Given the description of an element on the screen output the (x, y) to click on. 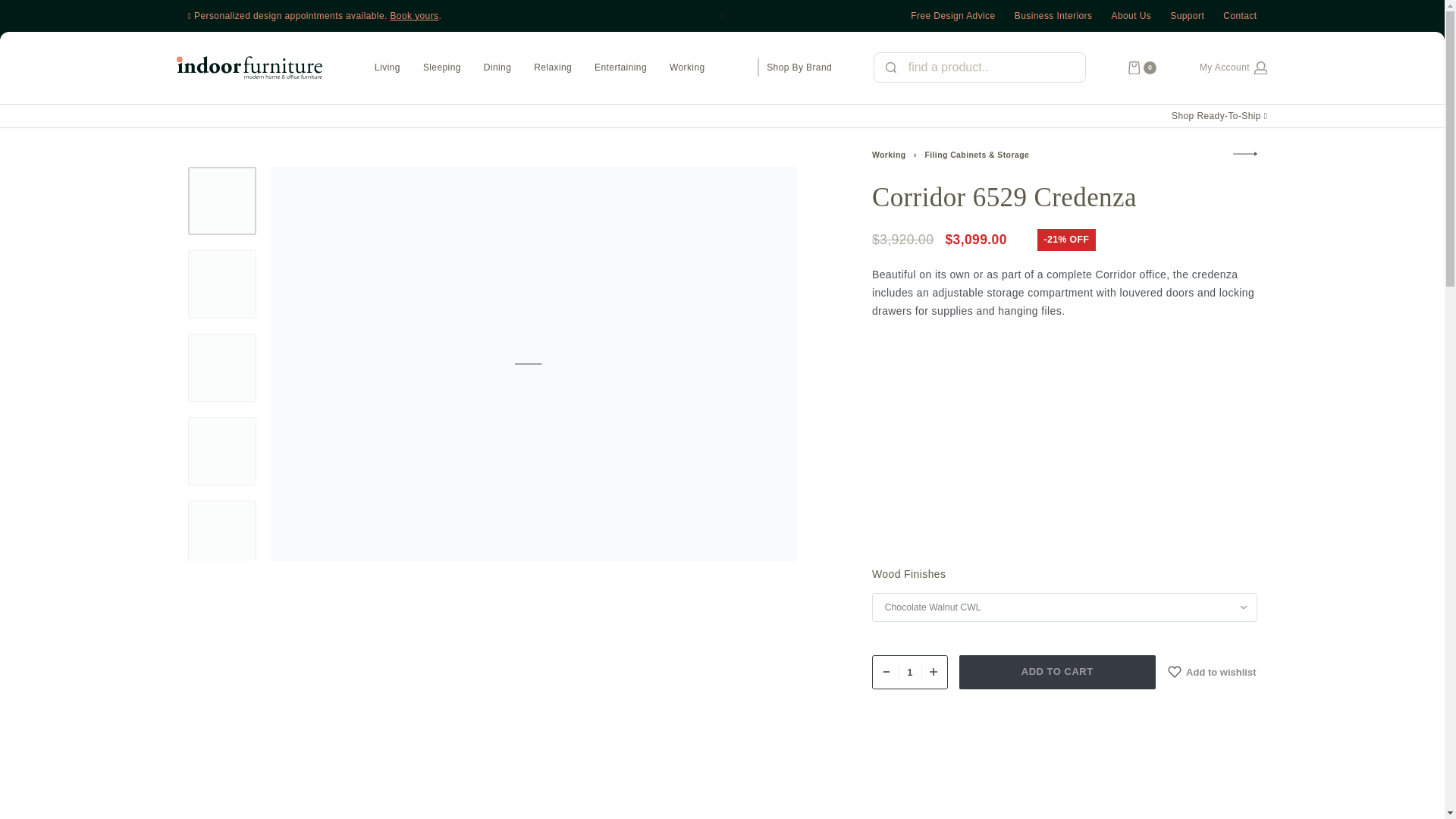
Add to wishlist (1212, 672)
 Personalized design appointments available. Book yours. (454, 15)
My Account (1233, 68)
Business Interiors (1053, 15)
0 (1141, 68)
Sleeping (441, 67)
Dining (496, 67)
Shop By Brand (799, 67)
Living (387, 67)
Sarah Rolling File (1245, 153)
Book yours (414, 15)
Free Design Advice (952, 15)
Working (687, 67)
Support (1187, 15)
About Us (1131, 15)
